Given the description of an element on the screen output the (x, y) to click on. 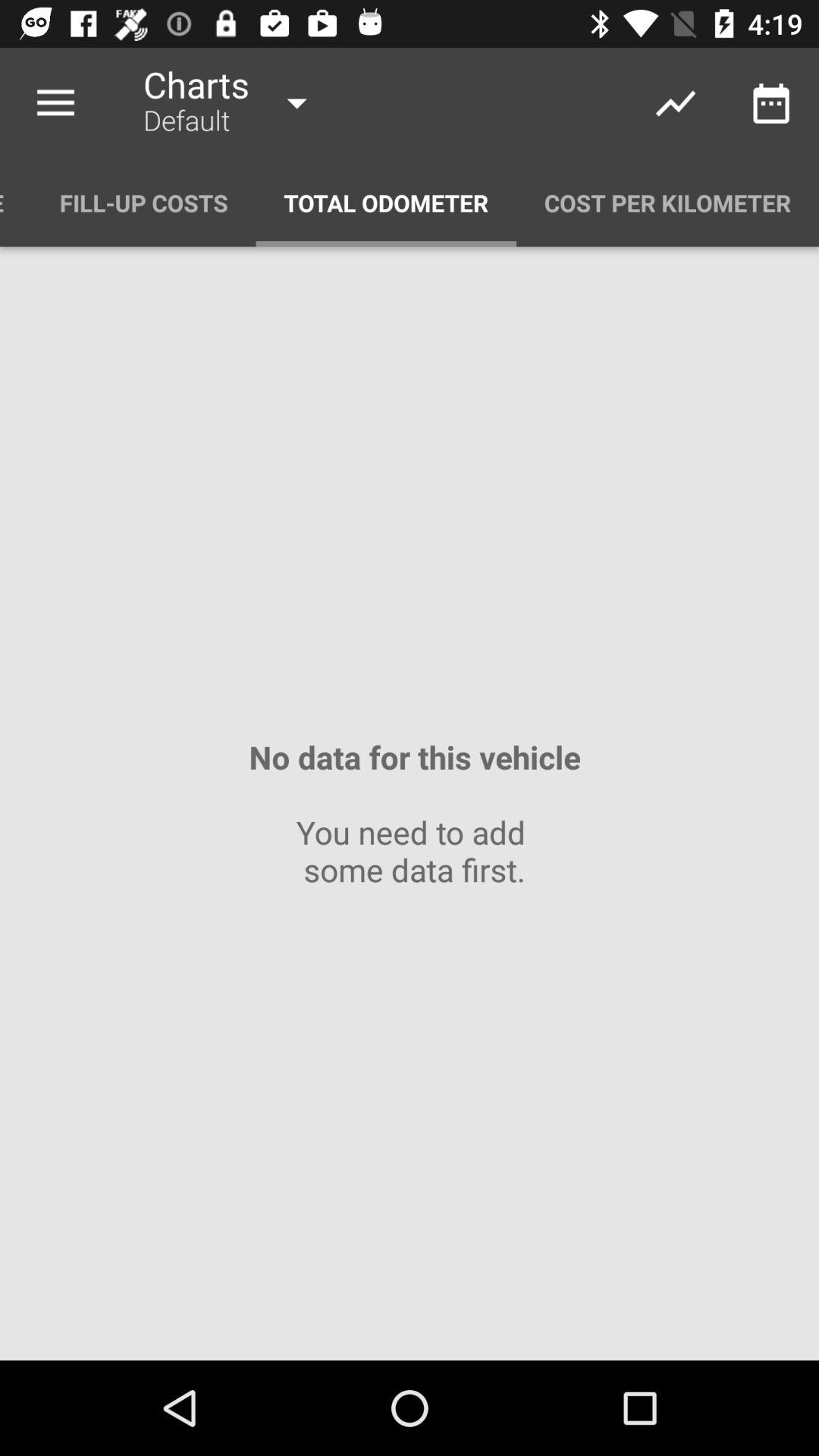
turn on icon next to gas price icon (143, 202)
